Given the description of an element on the screen output the (x, y) to click on. 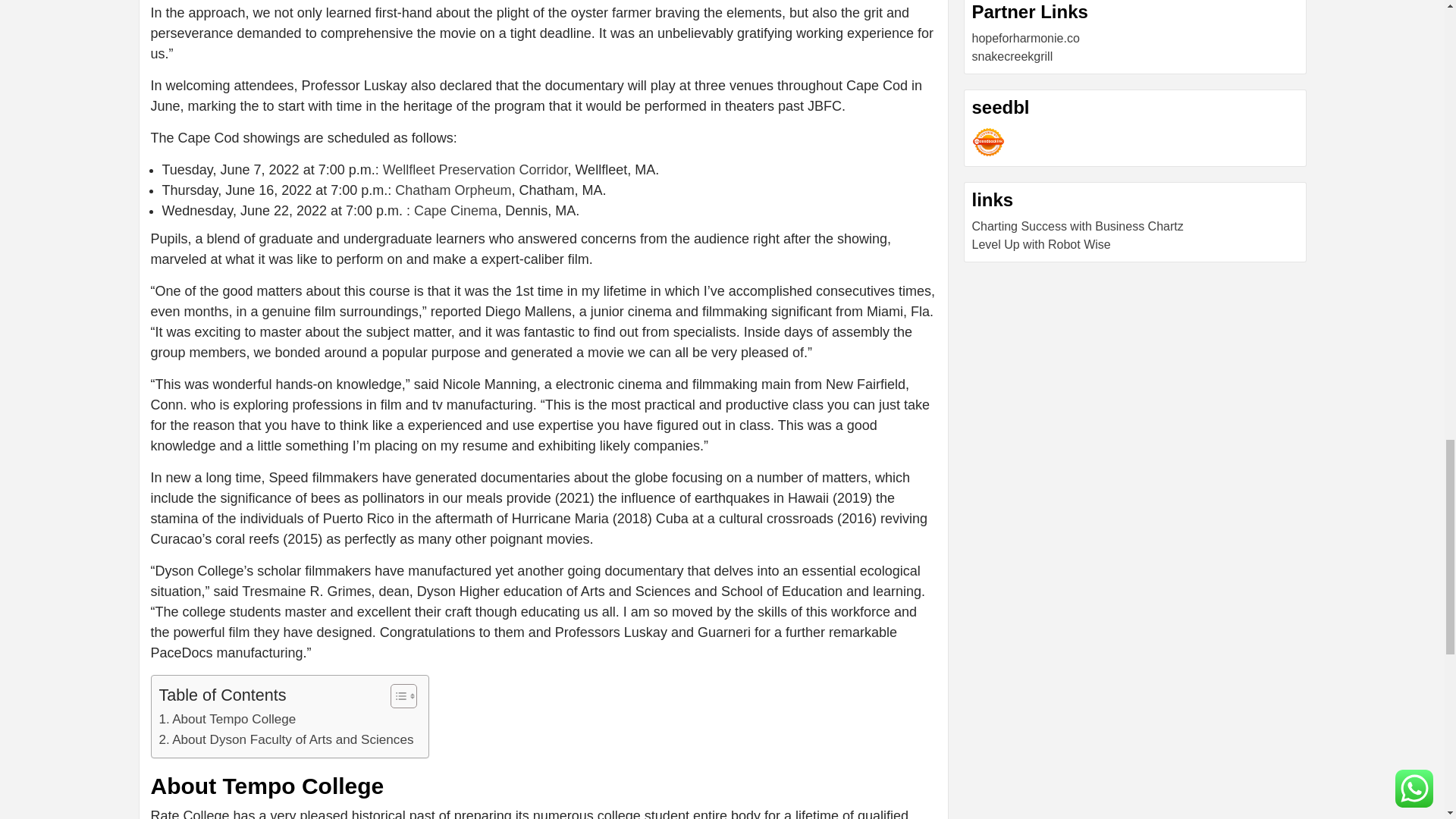
Seedbacklink (988, 142)
About Tempo College (227, 719)
About Tempo College (227, 719)
Cape Cinema (455, 210)
About Dyson Faculty of Arts and Sciences (285, 739)
Chatham Orpheum (452, 190)
Wellfleet Preservation Corridor (474, 169)
About Dyson Faculty of Arts and Sciences (285, 739)
